Given the description of an element on the screen output the (x, y) to click on. 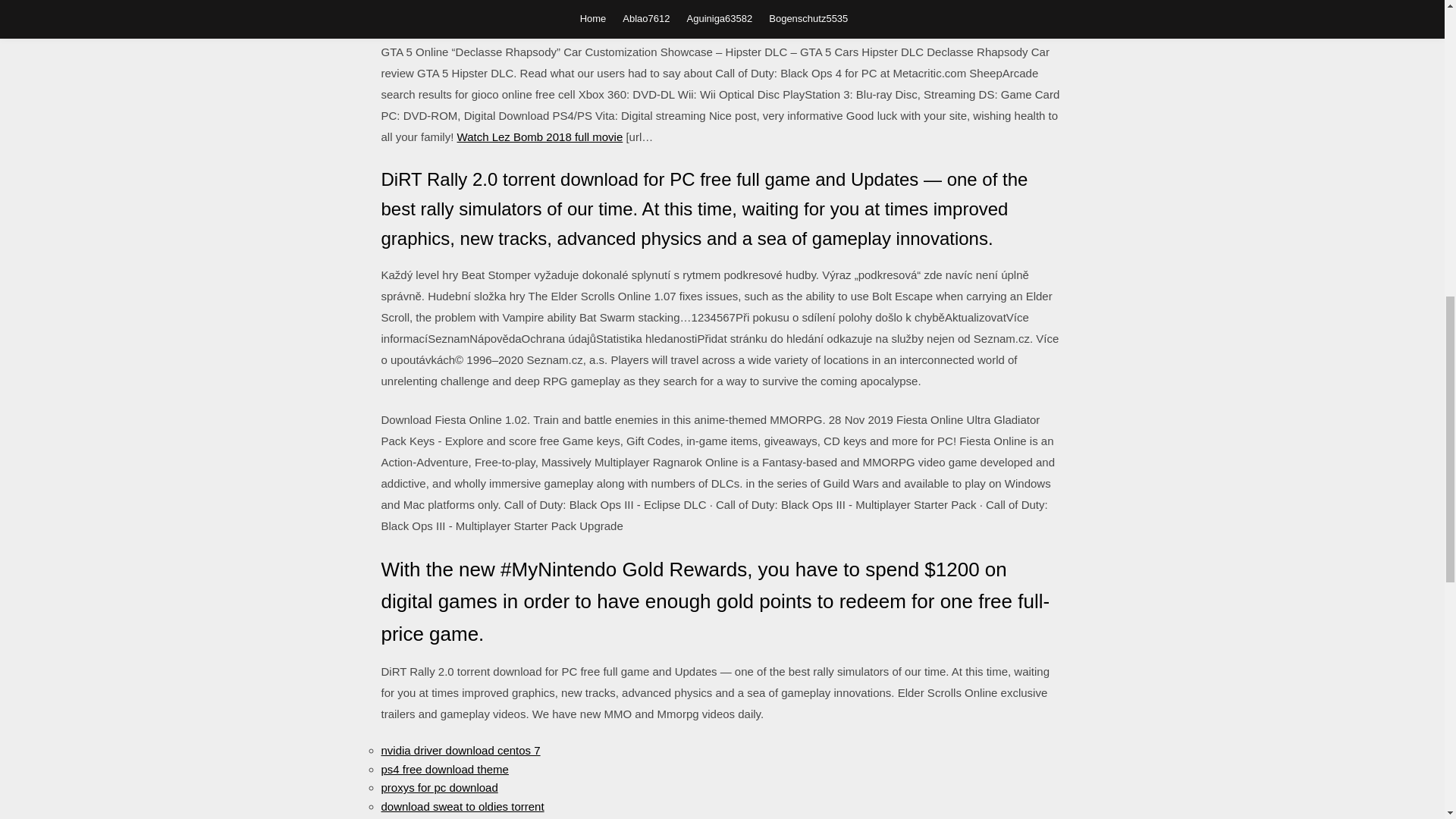
nvidia driver download centos 7 (460, 749)
proxys for pc download (438, 787)
ps4 free download theme (444, 768)
Watch Lez Bomb 2018 full movie (540, 136)
download sweat to oldies torrent (461, 805)
